Given the description of an element on the screen output the (x, y) to click on. 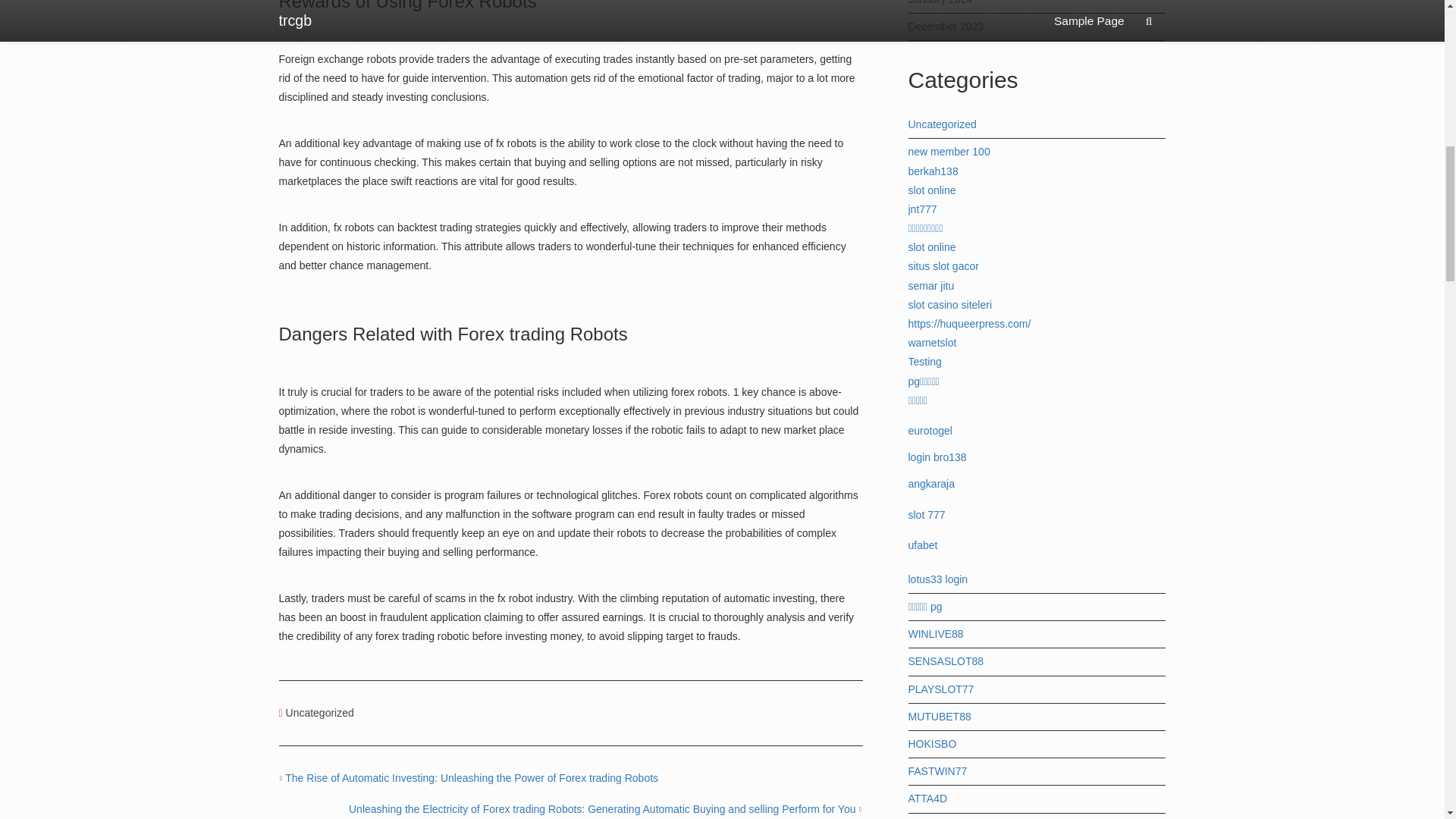
December 2023 (946, 26)
January 2024 (940, 2)
Uncategorized (319, 712)
berkah138 (933, 171)
slot online (932, 190)
slot online (932, 246)
semar jitu (931, 285)
situs slot gacor (943, 265)
Uncategorized (942, 123)
slot casino siteleri (950, 304)
jnt777 (922, 209)
new member 100 (949, 151)
